Given the description of an element on the screen output the (x, y) to click on. 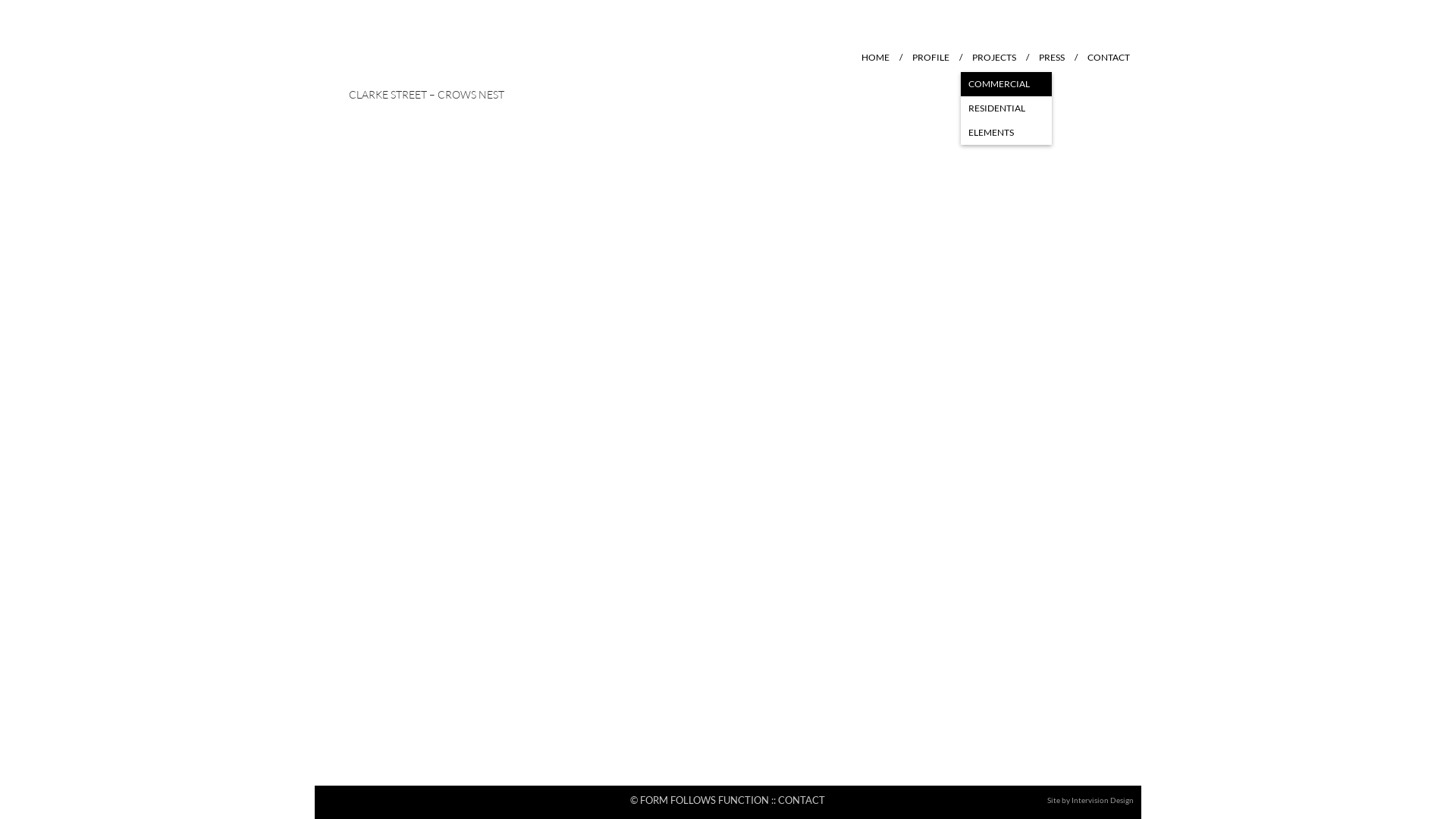
PROJECTS Element type: text (994, 57)
PRESS Element type: text (1051, 57)
ELEMENTS Element type: text (1005, 132)
CONTACT Element type: text (801, 799)
RESIDENTIAL Element type: text (1005, 108)
Intervision Design Element type: text (1102, 799)
CONTACT Element type: text (1108, 57)
COMMERCIAL Element type: text (1005, 84)
PROFILE Element type: text (930, 57)
HOME Element type: text (875, 57)
